Given the description of an element on the screen output the (x, y) to click on. 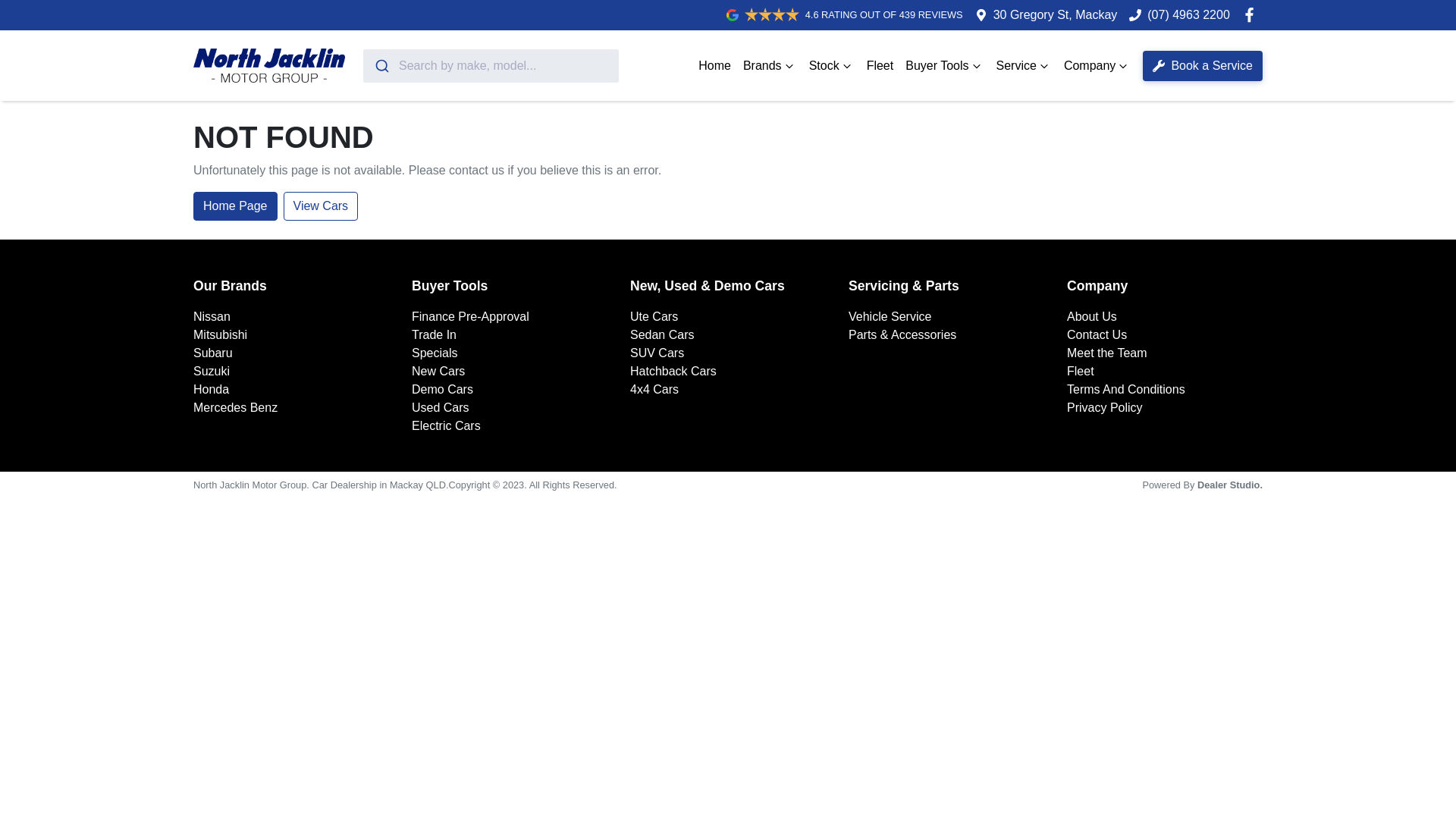
Book a Service Element type: text (1202, 65)
Used Cars Element type: text (440, 407)
4x4 Cars Element type: text (654, 388)
New Cars Element type: text (437, 370)
Ute Cars Element type: text (653, 316)
About Us Element type: text (1091, 316)
Fleet Element type: text (880, 65)
(07) 4963 2200 Element type: text (1188, 14)
Mercedes Benz Element type: text (235, 407)
Vehicle Service Element type: text (889, 316)
Home Element type: text (714, 65)
Privacy Policy Element type: text (1104, 407)
Trade In Element type: text (433, 334)
SUV Cars Element type: text (657, 352)
Specials Element type: text (434, 352)
Sedan Cars Element type: text (662, 334)
Suzuki Element type: text (211, 370)
View Cars Element type: text (320, 205)
Submit Element type: hover (380, 64)
Dealer Studio. Element type: text (1229, 484)
Contact Us Element type: text (1096, 334)
Home Page Element type: text (235, 205)
Buyer Tools Element type: text (944, 65)
Nissan Element type: text (211, 316)
Parts & Accessories Element type: text (902, 334)
Meet the Team Element type: text (1106, 352)
Company Element type: text (1096, 65)
Brands Element type: text (770, 65)
30 Gregory St, Mackay Element type: text (1055, 14)
Subaru Element type: text (212, 352)
Mitsubishi Element type: text (220, 334)
Honda Element type: text (211, 388)
Terms And Conditions Element type: text (1125, 388)
Demo Cars Element type: text (442, 388)
Fleet Element type: text (1080, 370)
Electric Cars Element type: text (445, 425)
Stock Element type: text (831, 65)
Finance Pre-Approval Element type: text (470, 316)
Hatchback Cars Element type: text (673, 370)
Service Element type: text (1023, 65)
